Given the description of an element on the screen output the (x, y) to click on. 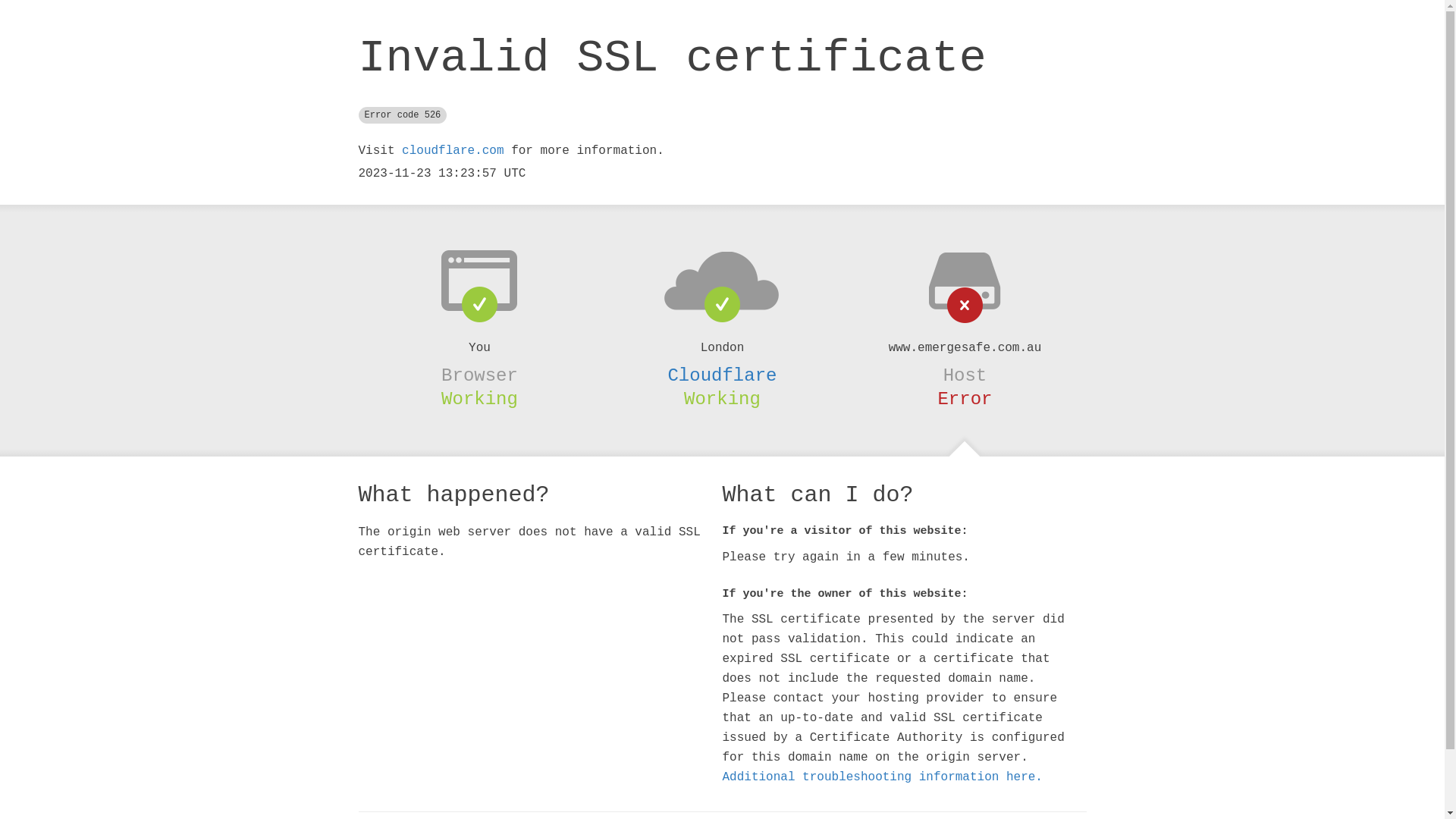
Additional troubleshooting information here. Element type: text (881, 777)
Cloudflare Element type: text (721, 375)
cloudflare.com Element type: text (452, 150)
